Given the description of an element on the screen output the (x, y) to click on. 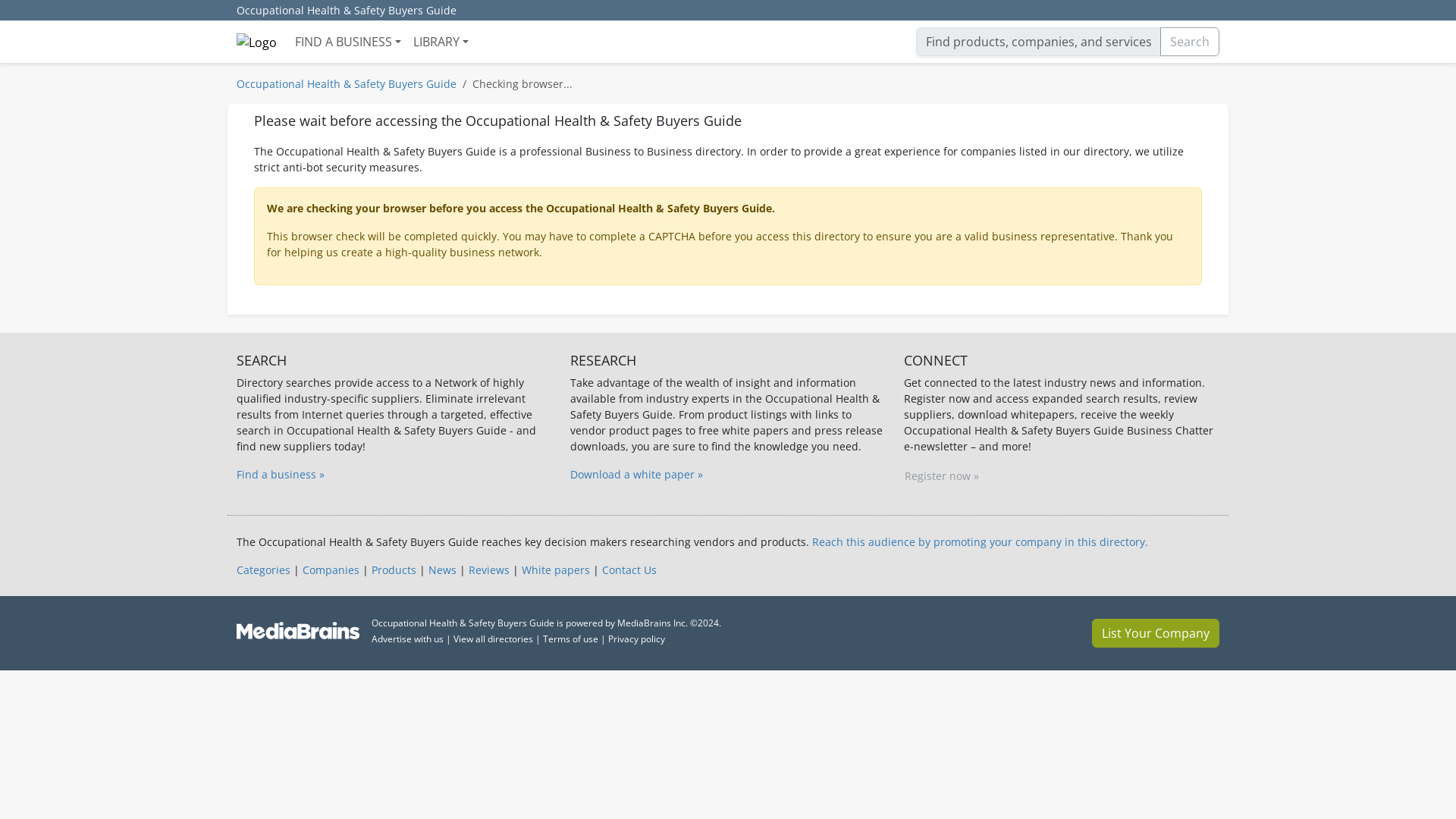
LIBRARY (440, 41)
FIND A BUSINESS (347, 41)
Terms of use (570, 638)
White papers (555, 569)
Contact Us (629, 569)
Reviews (488, 569)
News (442, 569)
Products (393, 569)
View all directories (492, 638)
List Your Company (1156, 633)
